Given the description of an element on the screen output the (x, y) to click on. 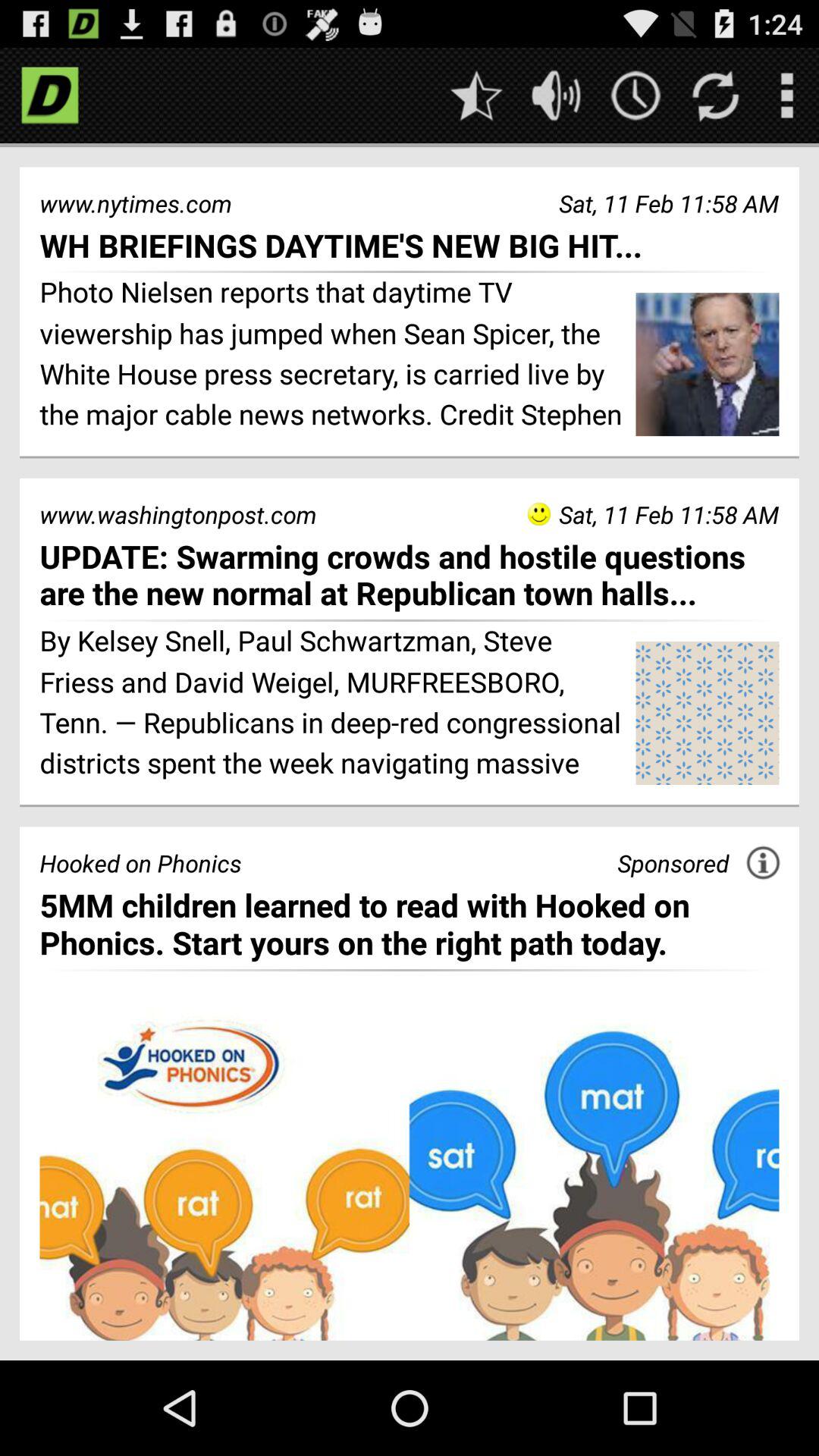
turn off the icon to the right of the hooked on phonics app (673, 862)
